Given the description of an element on the screen output the (x, y) to click on. 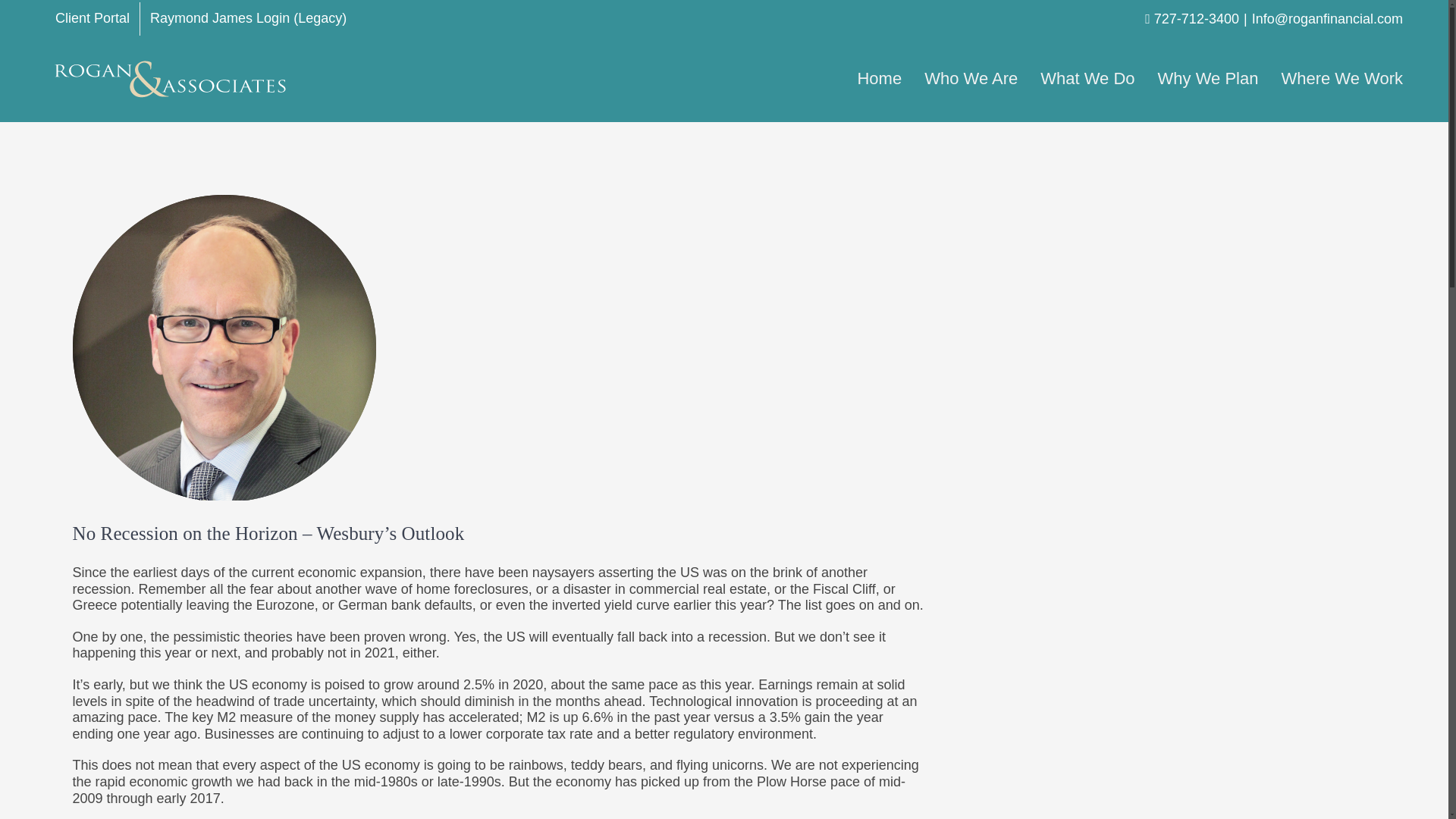
View Larger Image (223, 346)
Where We Work (1342, 78)
Client Portal (92, 19)
Who We Are (970, 78)
Why We Plan (1208, 78)
Home (879, 78)
What We Do (1087, 78)
